Given the description of an element on the screen output the (x, y) to click on. 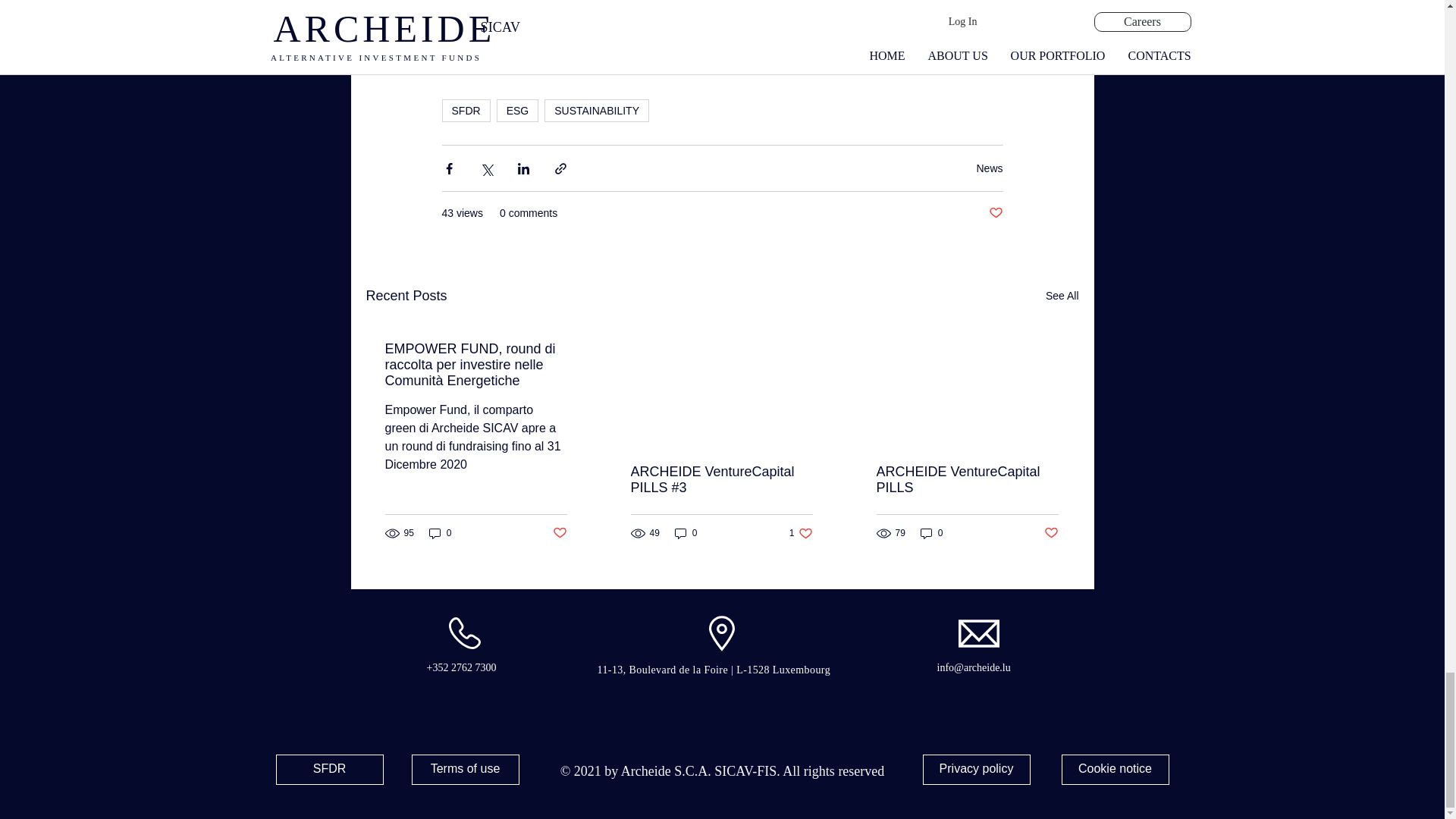
Post not marked as liked (1050, 533)
News (989, 168)
0 (440, 533)
ARCHEIDE VentureCapital PILLS (967, 480)
0 (685, 533)
ESG (517, 110)
SUSTAINABILITY (596, 110)
Post not marked as liked (995, 213)
See All (1061, 296)
Post not marked as liked (558, 533)
0 (931, 533)
SFDR (465, 110)
